Given the description of an element on the screen output the (x, y) to click on. 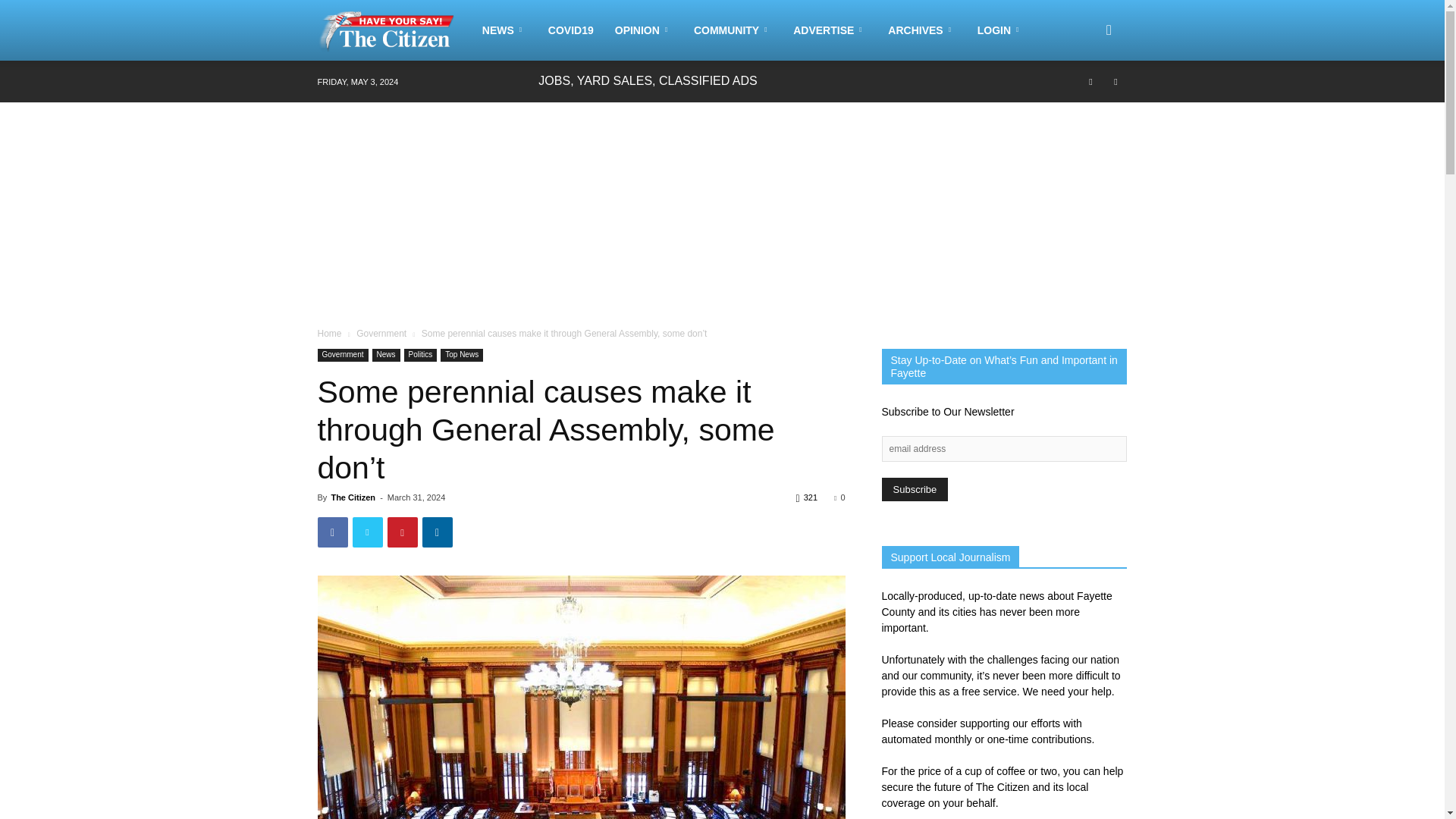
View all posts in Government (381, 333)
Subscribe (913, 489)
